Given the description of an element on the screen output the (x, y) to click on. 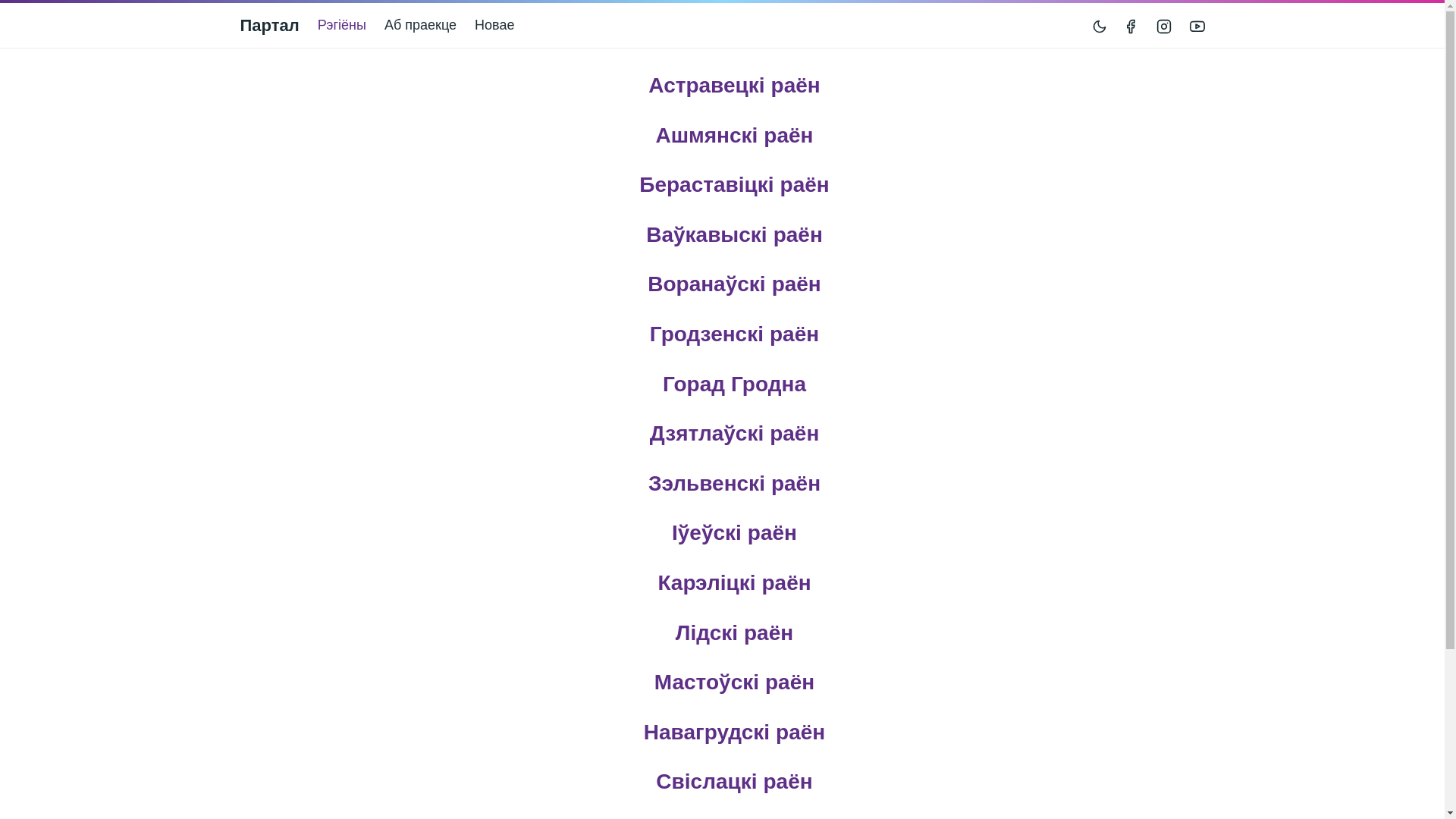
Instagram Element type: text (1162, 25)
YouTube Element type: text (1193, 25)
>
Facebook Element type: text (1132, 25)
